Given the description of an element on the screen output the (x, y) to click on. 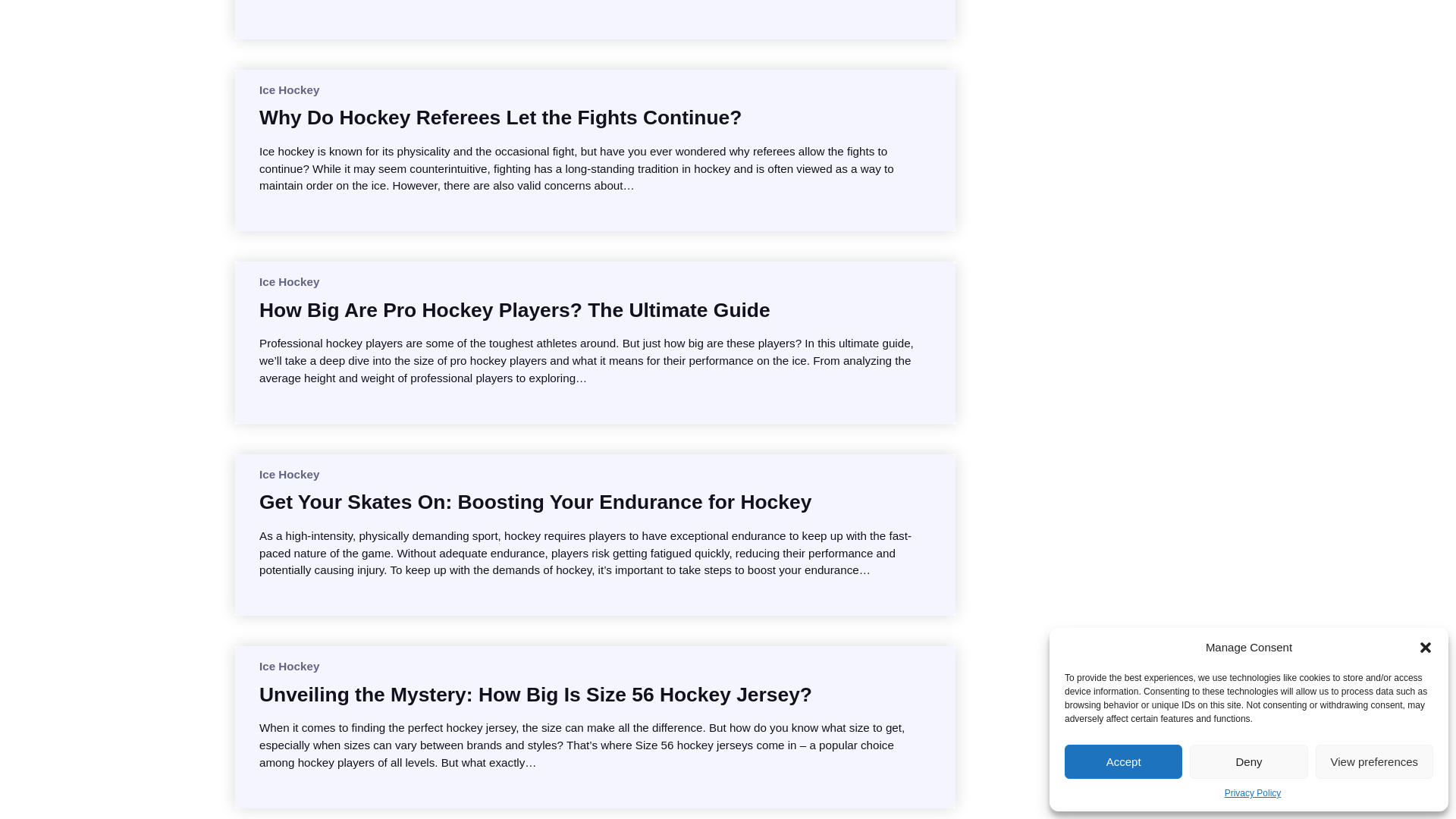
Ice Hockey (288, 473)
Ice Hockey (288, 281)
Why Do Hockey Referees Let the Fights Continue? (500, 117)
Get Your Skates On: Boosting Your Endurance for Hockey (534, 501)
Ice Hockey (288, 89)
How Big Are Pro Hockey Players? The Ultimate Guide (514, 309)
Ice Hockey (288, 666)
Unveiling the Mystery: How Big Is Size 56 Hockey Jersey? (535, 694)
